Given the description of an element on the screen output the (x, y) to click on. 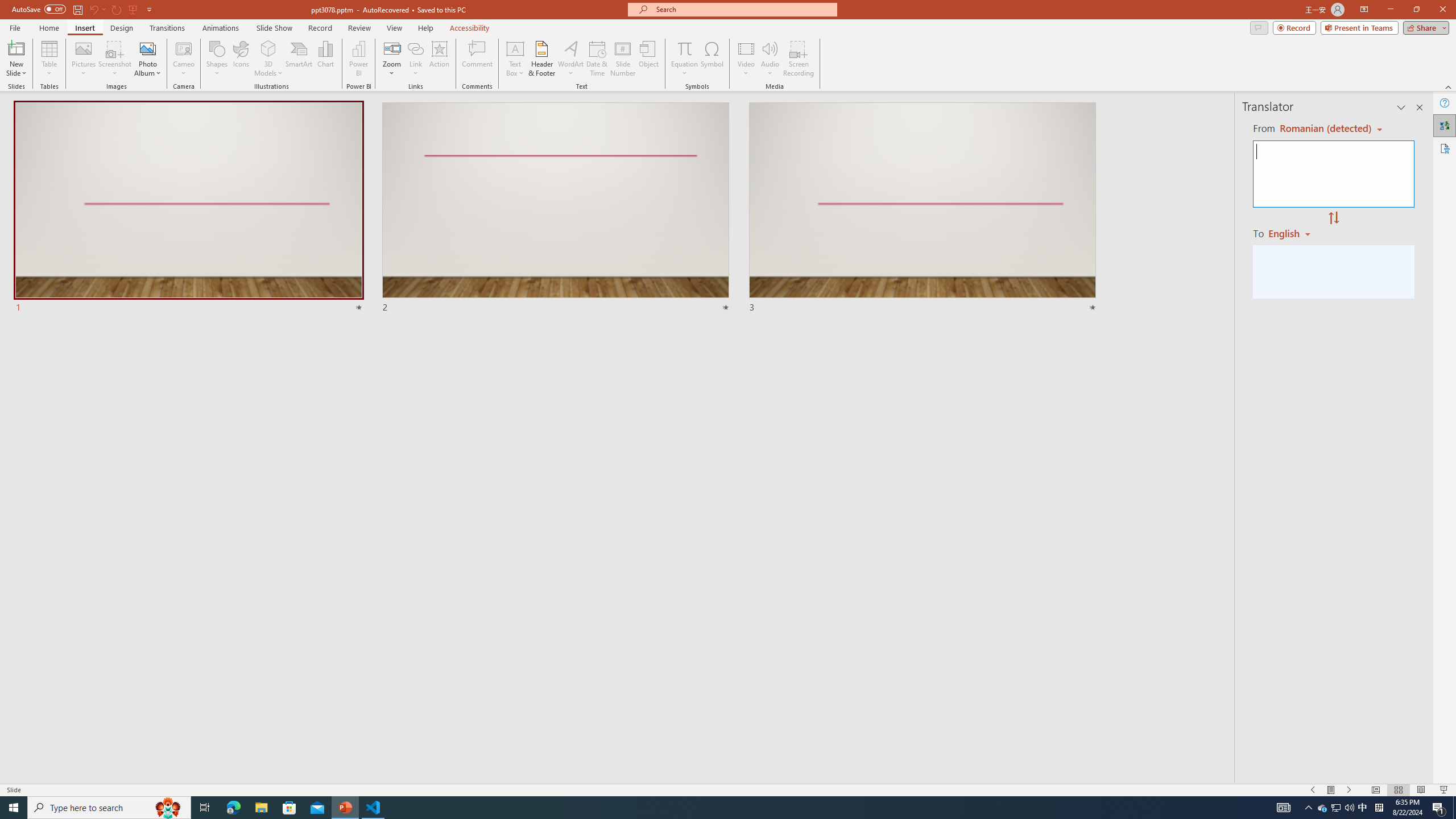
New Slide (16, 58)
WordArt (570, 58)
Class: MsoCommandBar (728, 789)
Photo Album... (147, 58)
Insert (83, 28)
Comment (476, 58)
Redo (117, 9)
Audio (769, 58)
Swap "from" and "to" languages. (1333, 218)
Icons (240, 58)
